Given the description of an element on the screen output the (x, y) to click on. 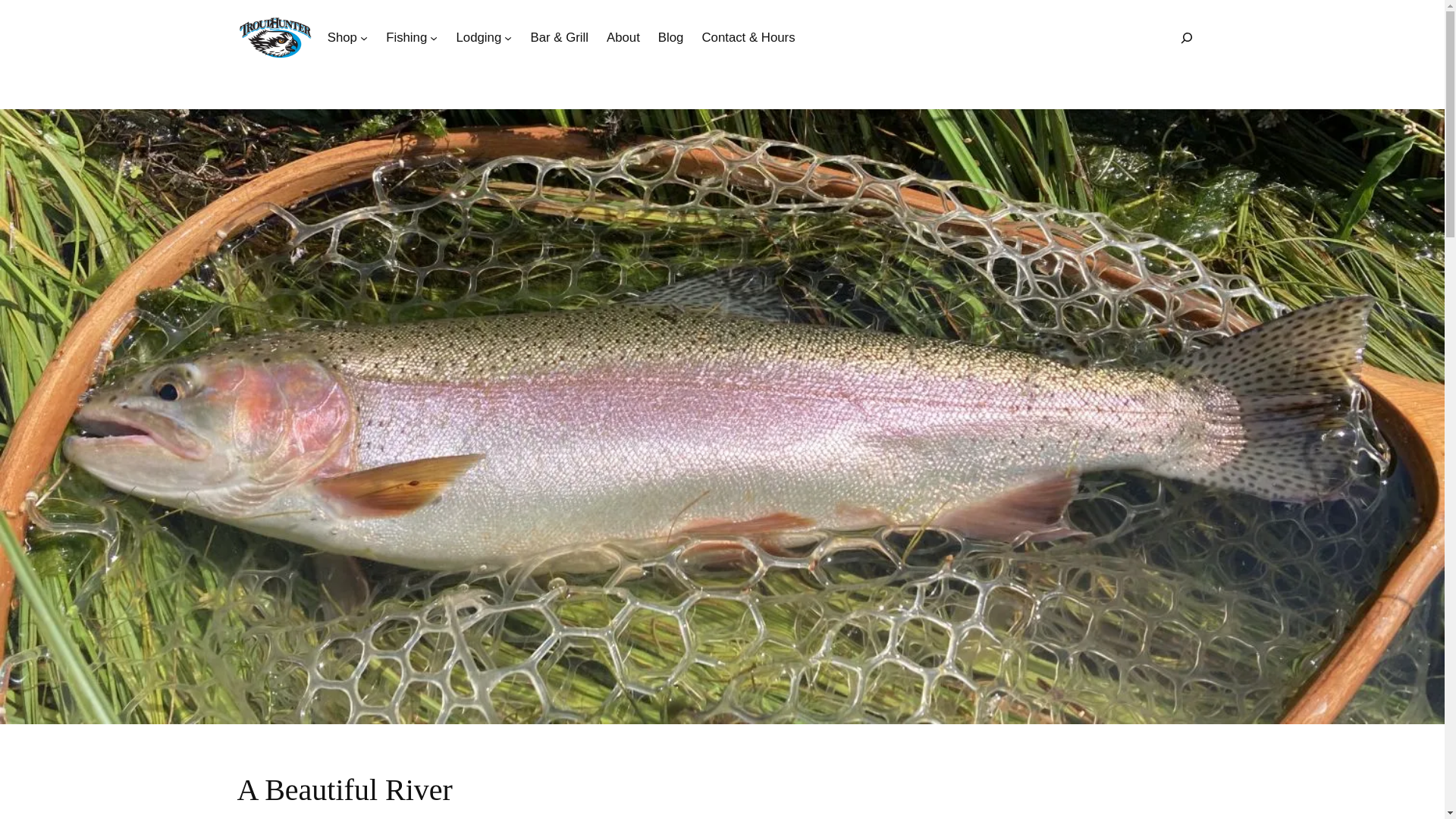
About (623, 37)
Fishing (405, 37)
Lodging (479, 37)
Shop (341, 37)
Blog (671, 37)
